Given the description of an element on the screen output the (x, y) to click on. 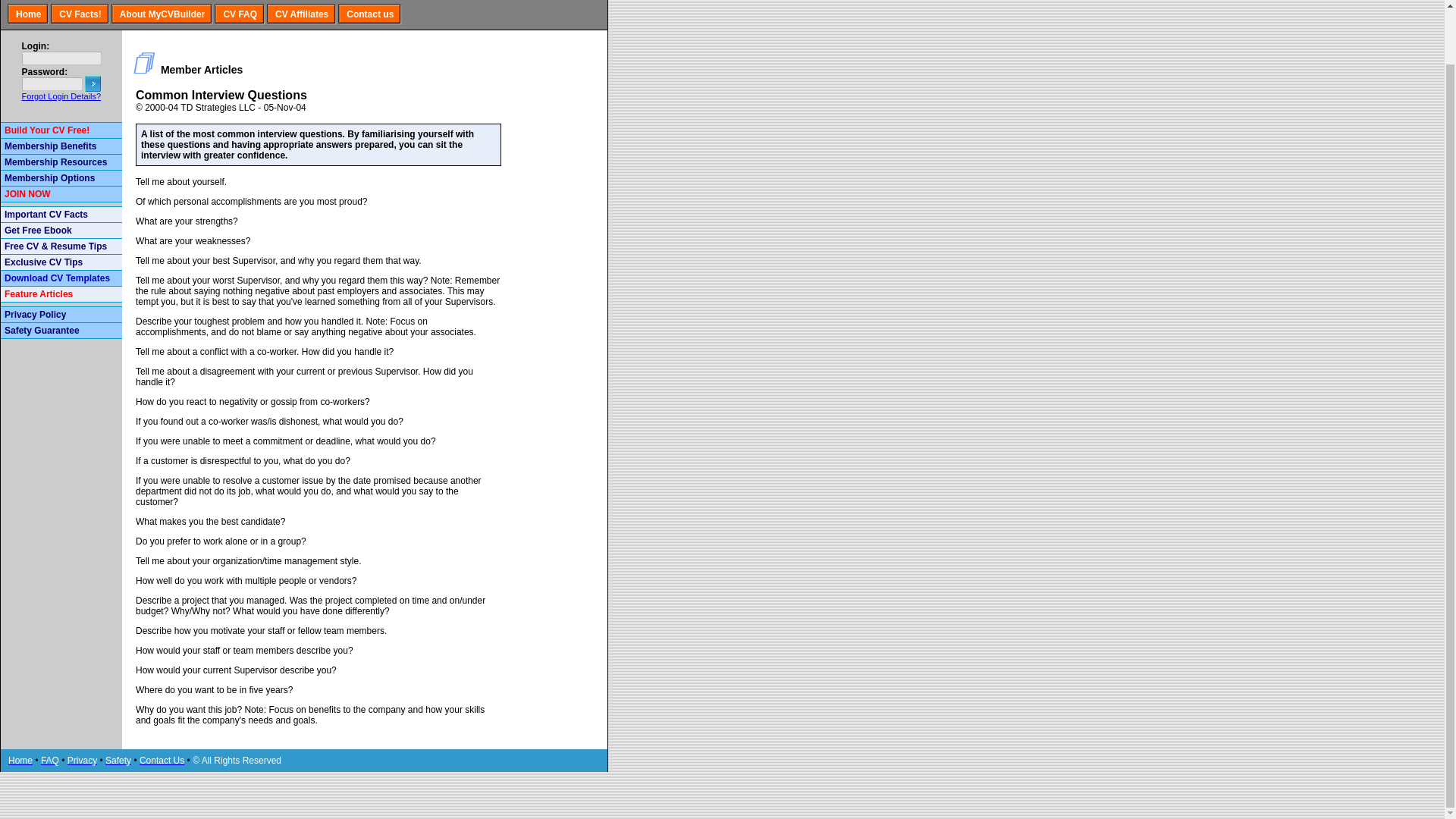
CV FAQ (239, 14)
Privacy (81, 760)
Safety Guarantee (42, 330)
Get Free Ebook (37, 230)
Privacy Policy (34, 314)
Safety (117, 760)
Contact us (369, 14)
Membership Options (49, 177)
Membership Benefits (50, 145)
Contact Us (161, 760)
